Given the description of an element on the screen output the (x, y) to click on. 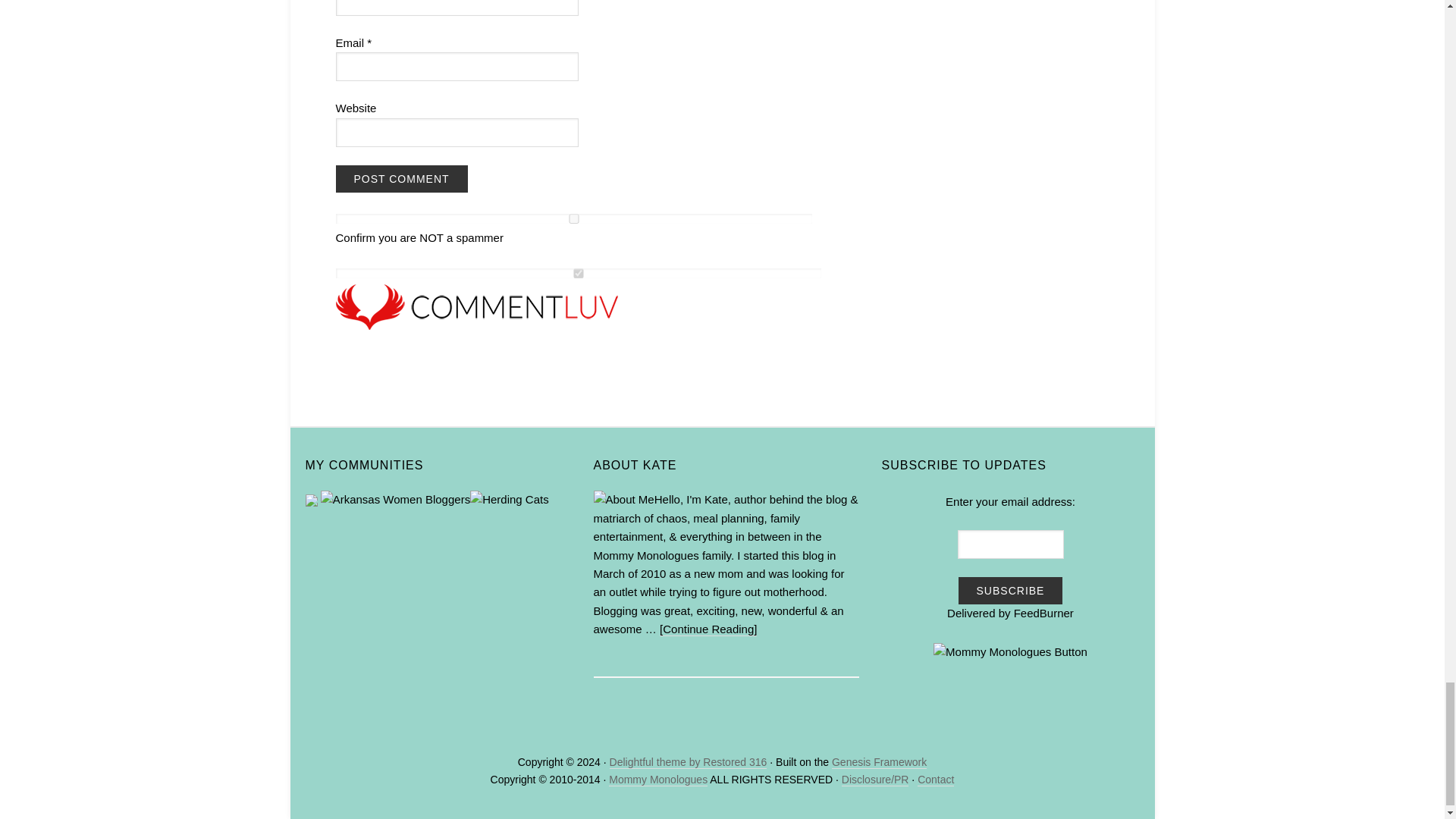
on (577, 273)
Arkansas Women Bloggers (395, 499)
Herding Cats (509, 499)
Subscribe (1010, 590)
Post Comment (400, 178)
on (572, 218)
